Given the description of an element on the screen output the (x, y) to click on. 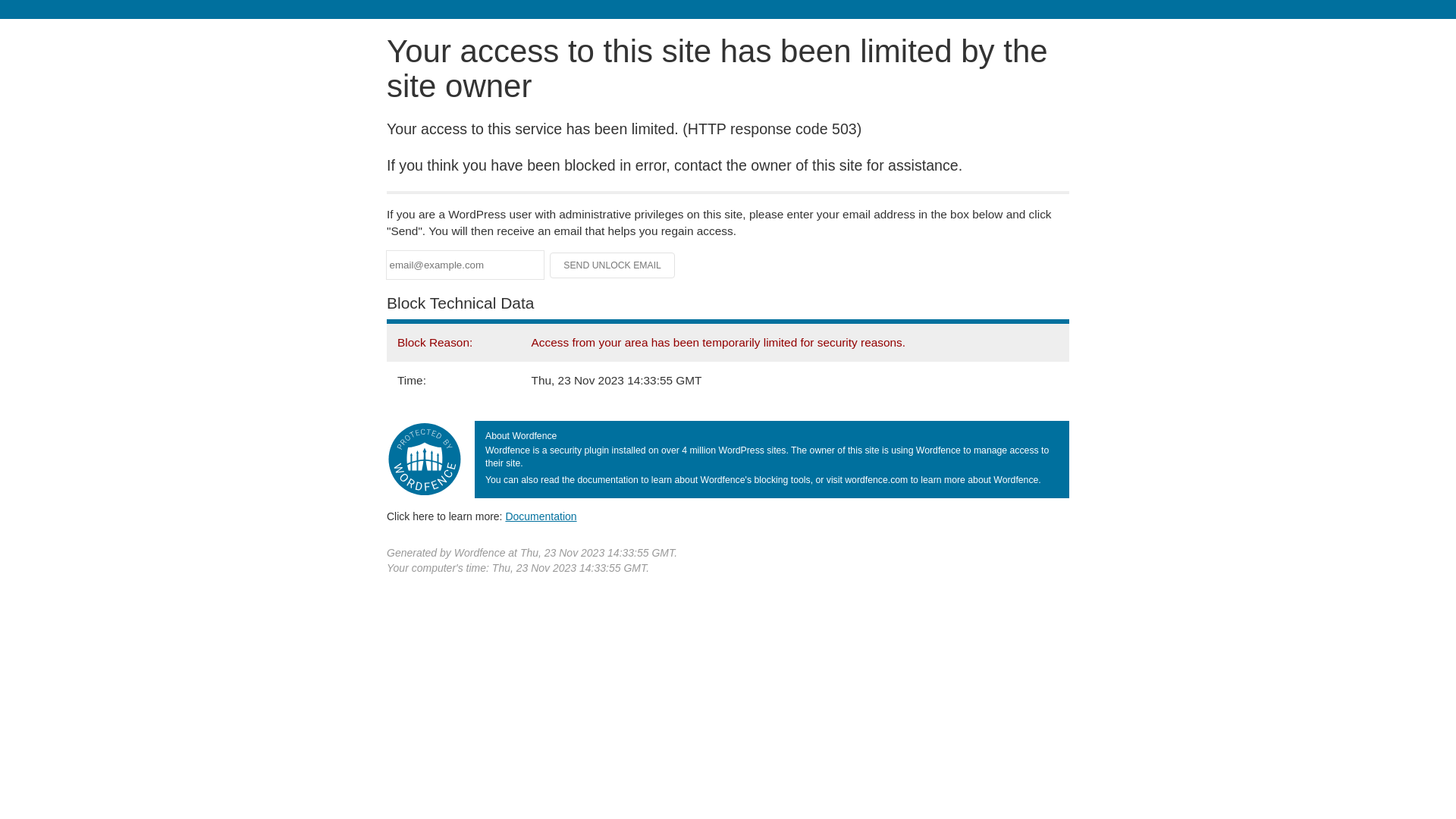
Send Unlock Email Element type: text (612, 265)
Documentation Element type: text (540, 516)
